Given the description of an element on the screen output the (x, y) to click on. 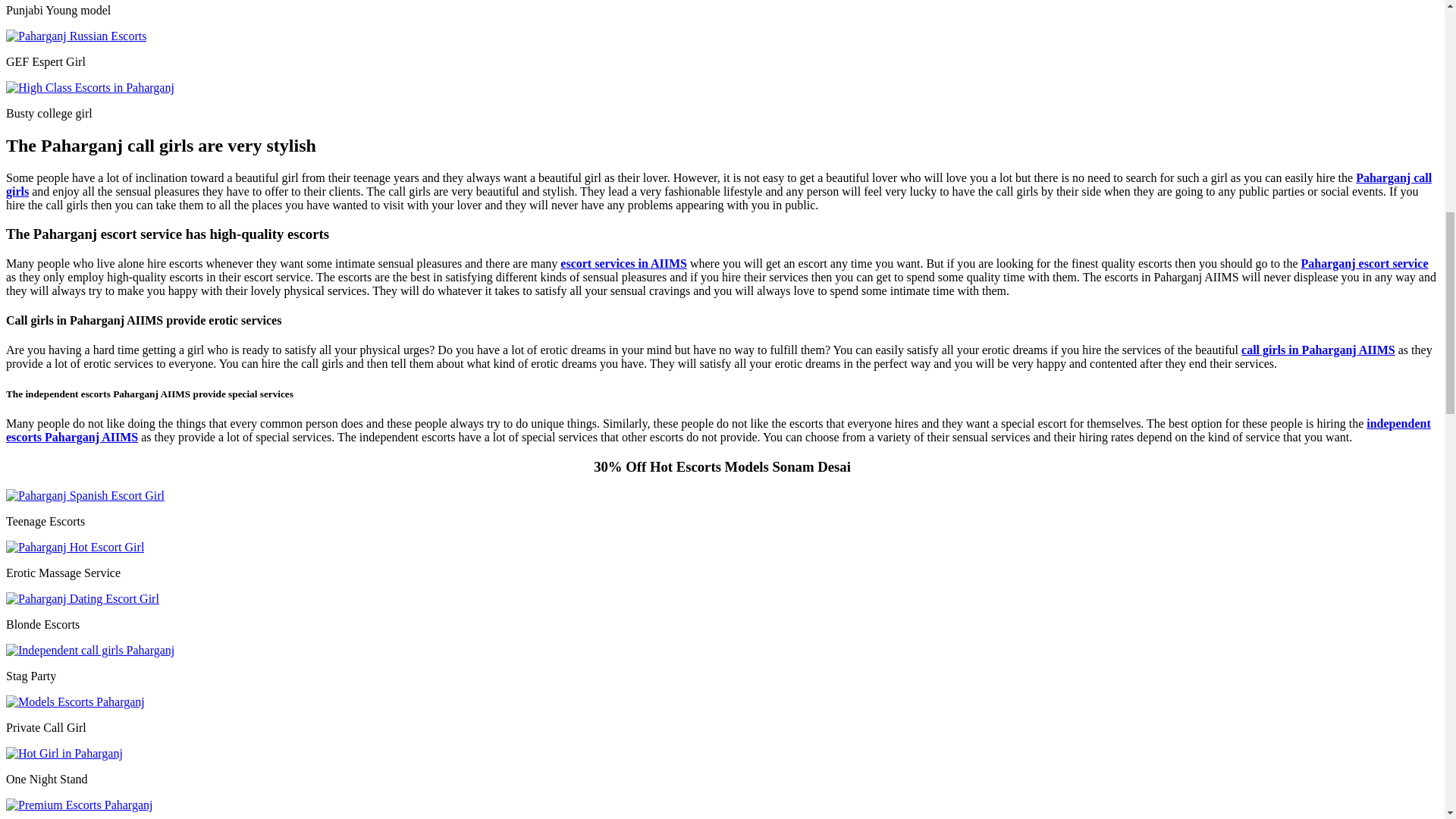
Paharganj Spanish Escort Girl (84, 495)
Paharganj escort service (1364, 263)
call girls in Paharganj AIIMS (1317, 349)
Paharganj Hot Escort Girl (74, 547)
High Class Escorts in Paharganj (89, 88)
Paharganj Dating Escort Girl (81, 599)
independent escorts Paharganj AIIMS (718, 429)
escort services in AIIMS (623, 263)
Paharganj Russian Escorts (76, 36)
Paharganj call girls (718, 184)
